Given the description of an element on the screen output the (x, y) to click on. 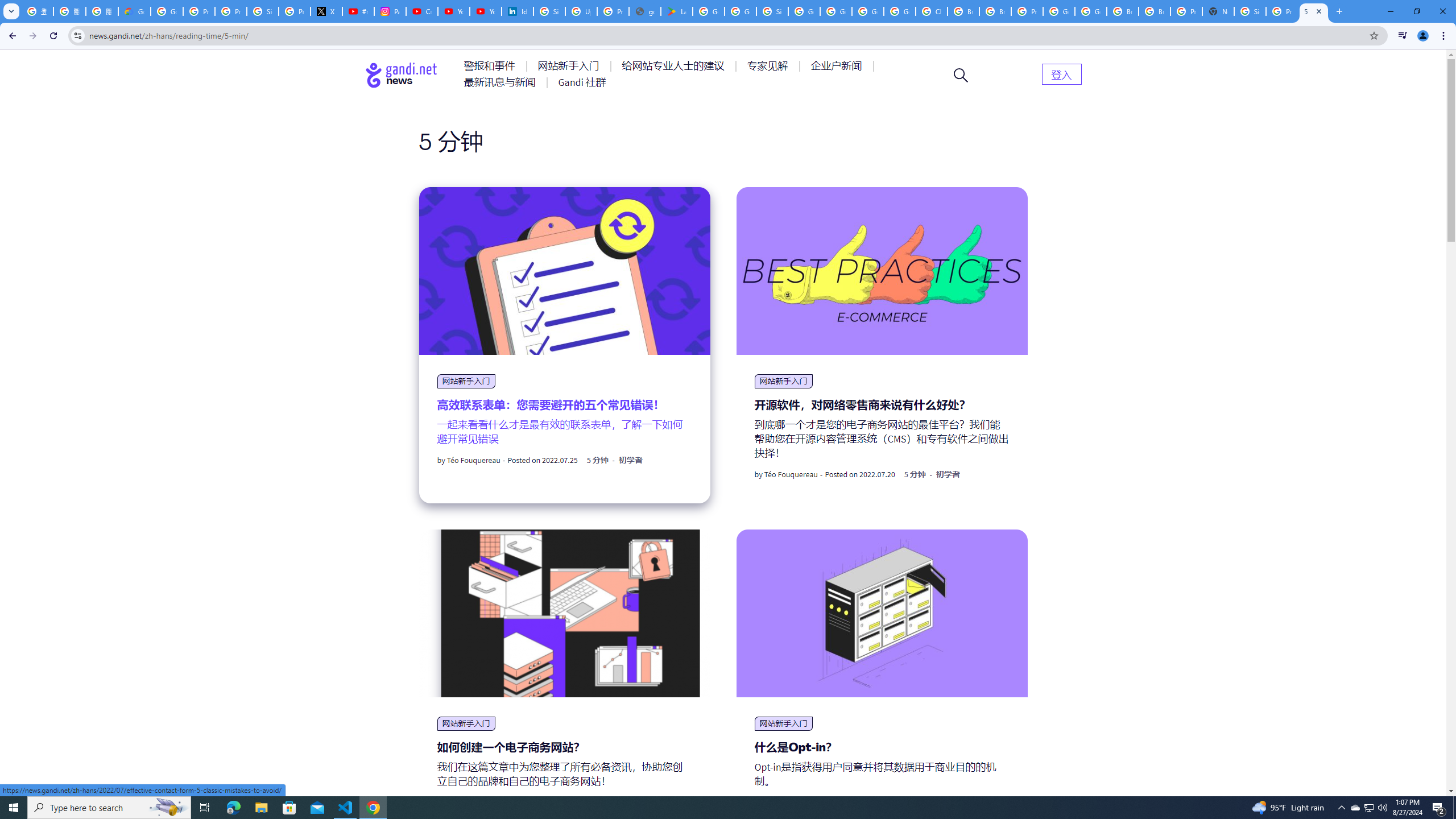
AutomationID: menu-item-82399 (1061, 73)
You (1422, 35)
Open search form (960, 74)
Search tabs (10, 11)
Google Cloud Platform (1091, 11)
Google Cloud Platform (1059, 11)
Browse Chrome as a guest - Computer - Google Chrome Help (1123, 11)
